Given the description of an element on the screen output the (x, y) to click on. 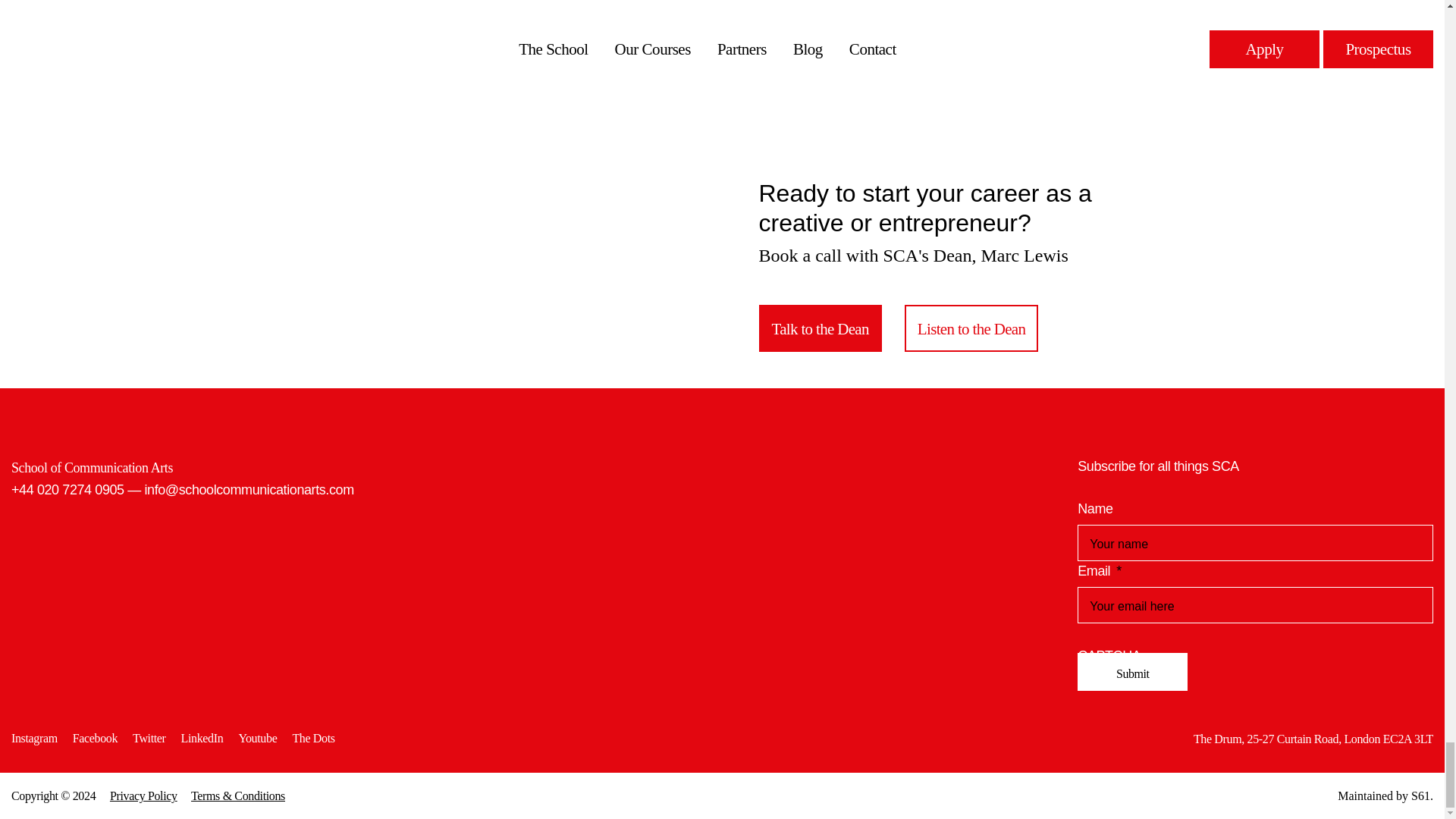
Submit (1132, 671)
